Given the description of an element on the screen output the (x, y) to click on. 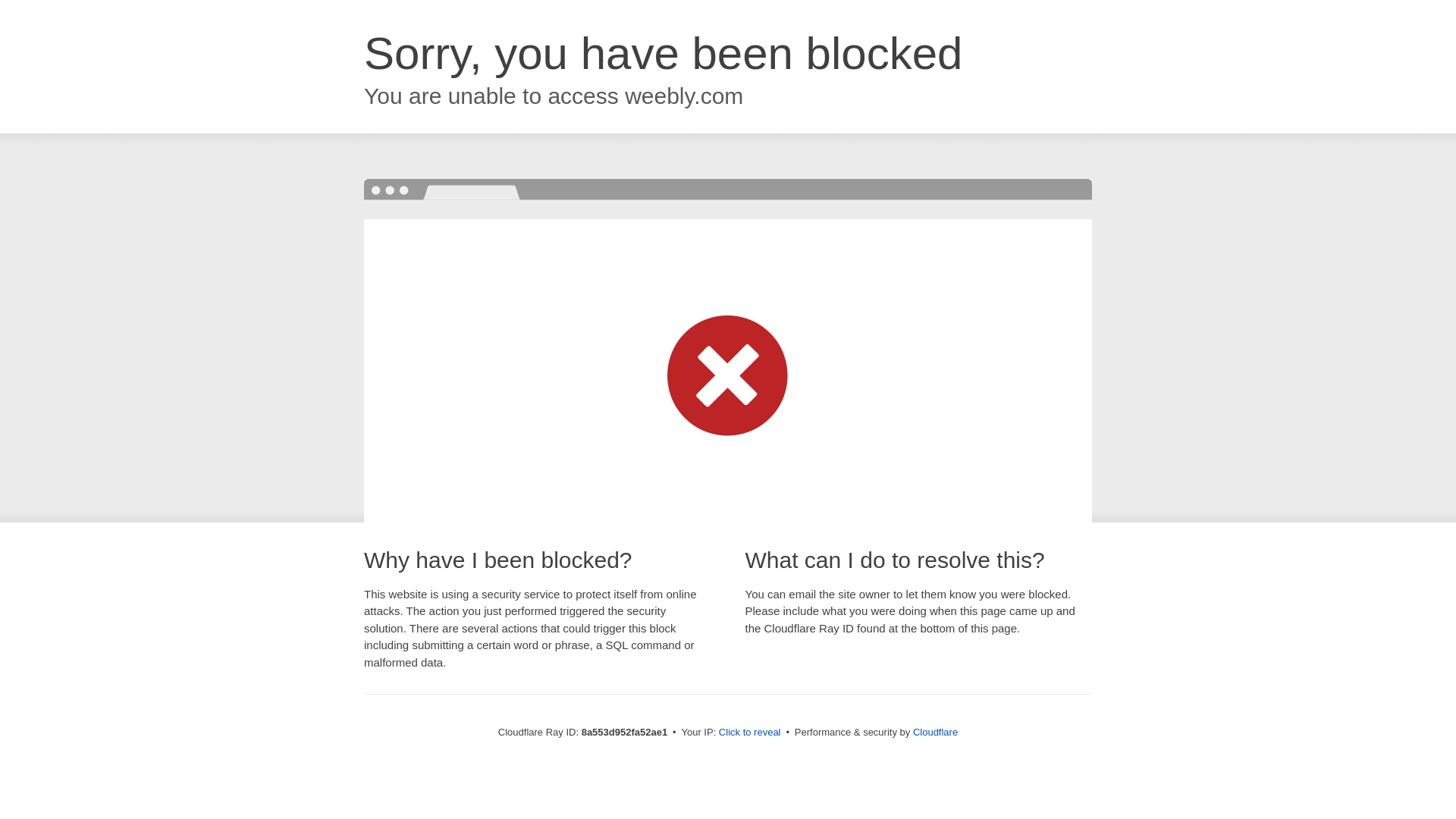
Cloudflare (935, 731)
Click to reveal (749, 732)
